Given the description of an element on the screen output the (x, y) to click on. 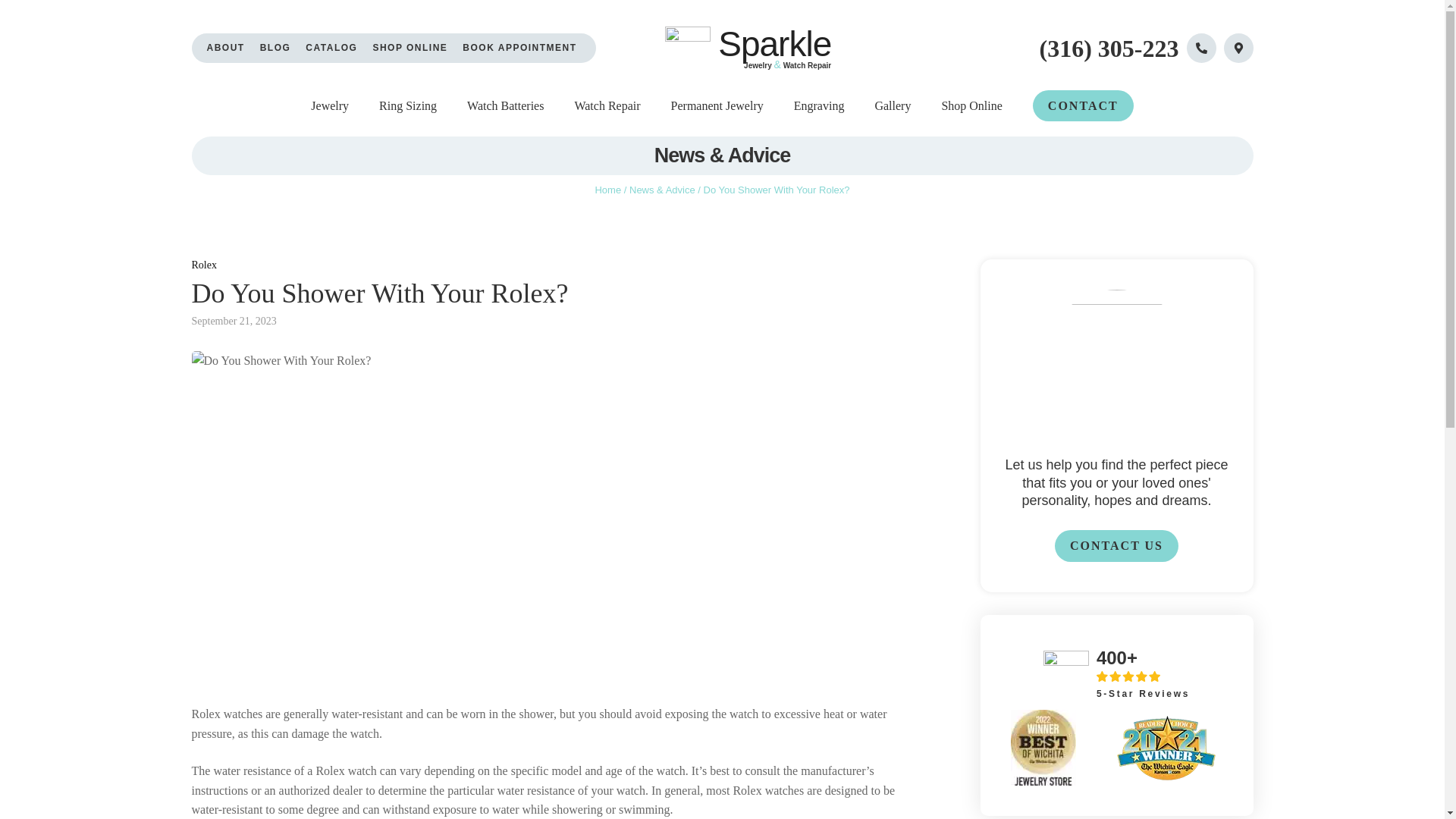
ABOUT (225, 47)
CONTACT (1083, 105)
Shop Online (970, 105)
BLOG (275, 47)
Ring Sizing (407, 105)
Gallery (893, 105)
CATALOG (330, 47)
Watch Batteries (505, 105)
Permanent Jewelry (716, 105)
Jewelry (330, 105)
